Given the description of an element on the screen output the (x, y) to click on. 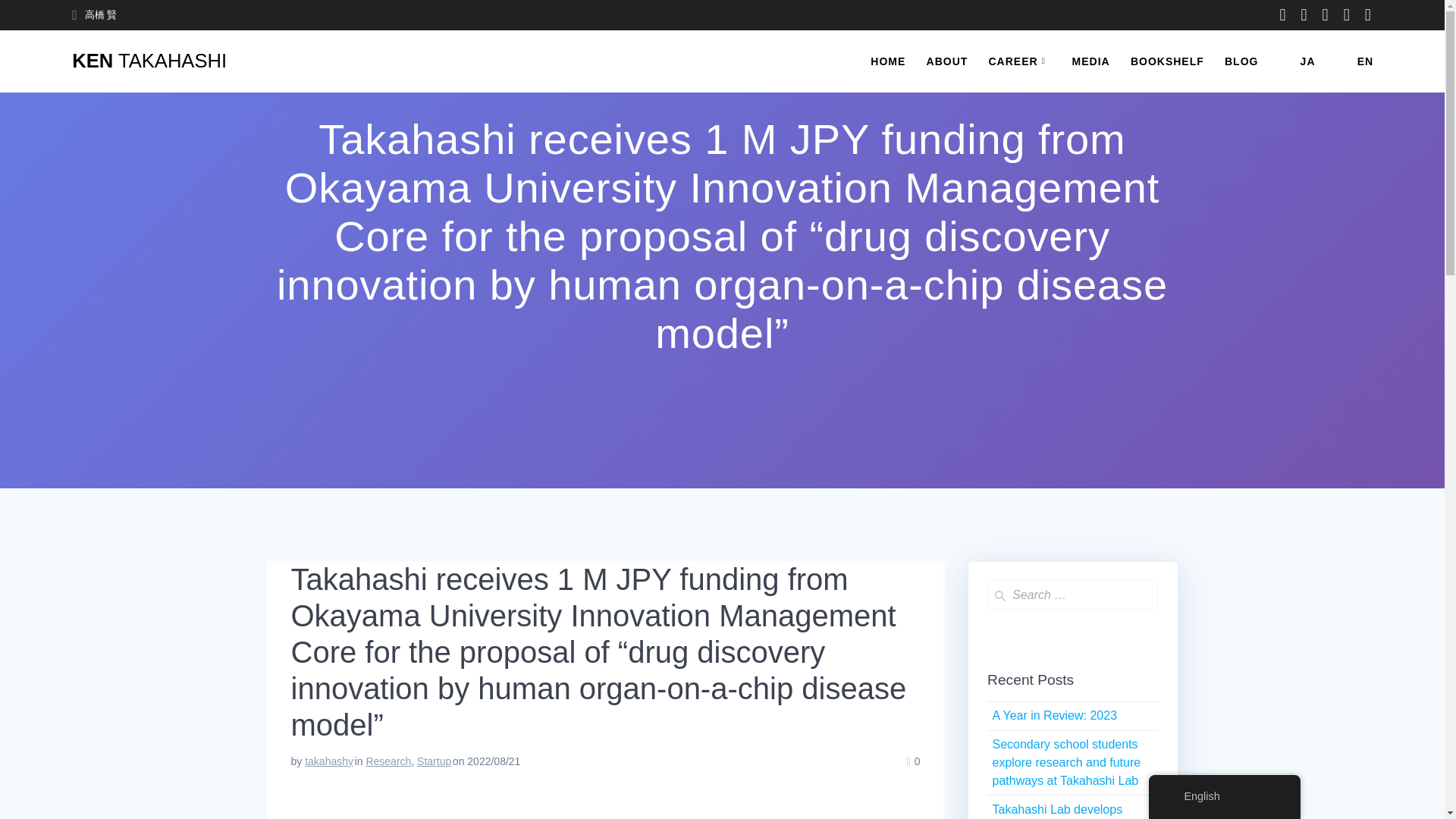
HOME (887, 61)
BLOG (1240, 61)
Japanese (1289, 61)
Posts by takahashy (328, 761)
KEN TAKAHASHI (149, 61)
JA (1297, 61)
CAREER (1019, 61)
English (1172, 795)
English (1346, 61)
MEDIA (1090, 61)
EN (1354, 61)
ABOUT (947, 61)
BOOKSHELF (1167, 61)
